Given the description of an element on the screen output the (x, y) to click on. 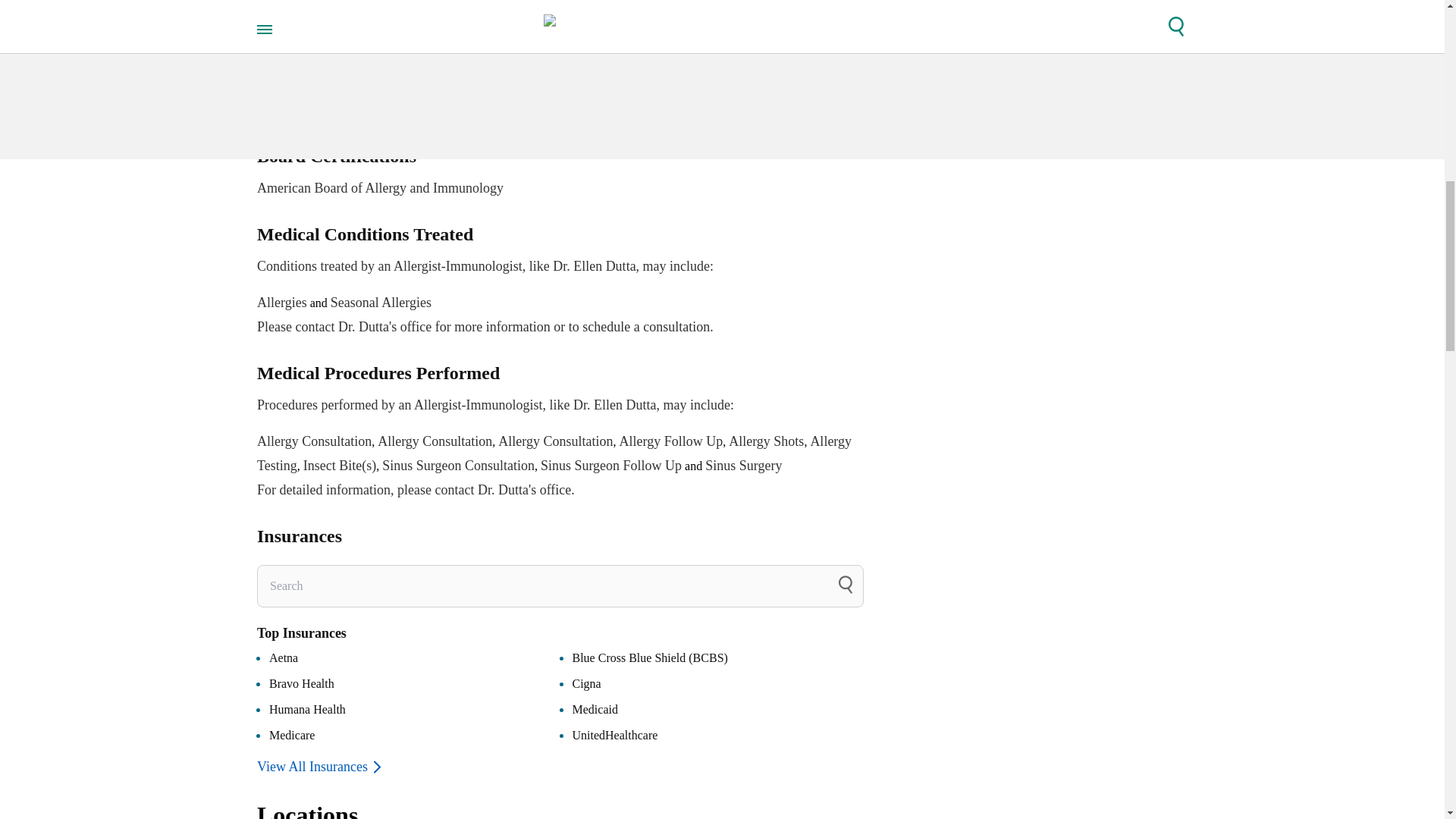
Allergy Consultation (554, 441)
Allergy Consultation (314, 441)
Sinus Surgery (742, 465)
Sinus Surgeon Consultation (457, 465)
Seasonal Allergies (380, 302)
Allergy Shots (766, 441)
Allergy Testing (554, 453)
Allergy Follow Up (671, 441)
